Given the description of an element on the screen output the (x, y) to click on. 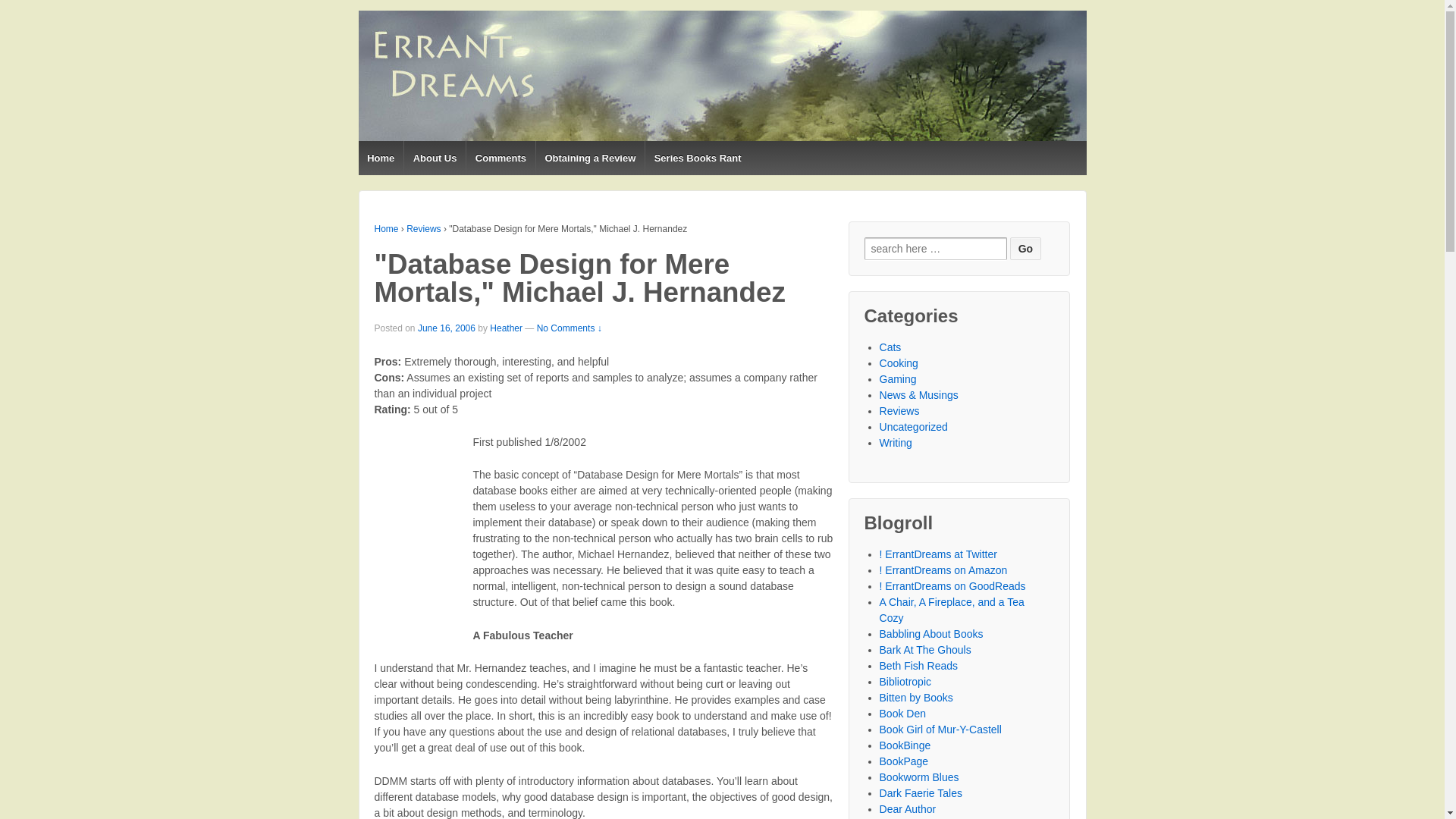
Book reviews and features (918, 665)
View all posts by Heather (505, 327)
A Chair, A Fireplace, and a Tea Cozy (952, 610)
"Database Design for Mere Mortals," Michael J. Hernandez (446, 327)
Comments (500, 157)
Talking about books, TV shows, movies, libraries (952, 610)
Romance Reviews (905, 745)
Home (386, 228)
Horror, Fantasy, SF (902, 713)
Beth Fish Reads (918, 665)
